Given the description of an element on the screen output the (x, y) to click on. 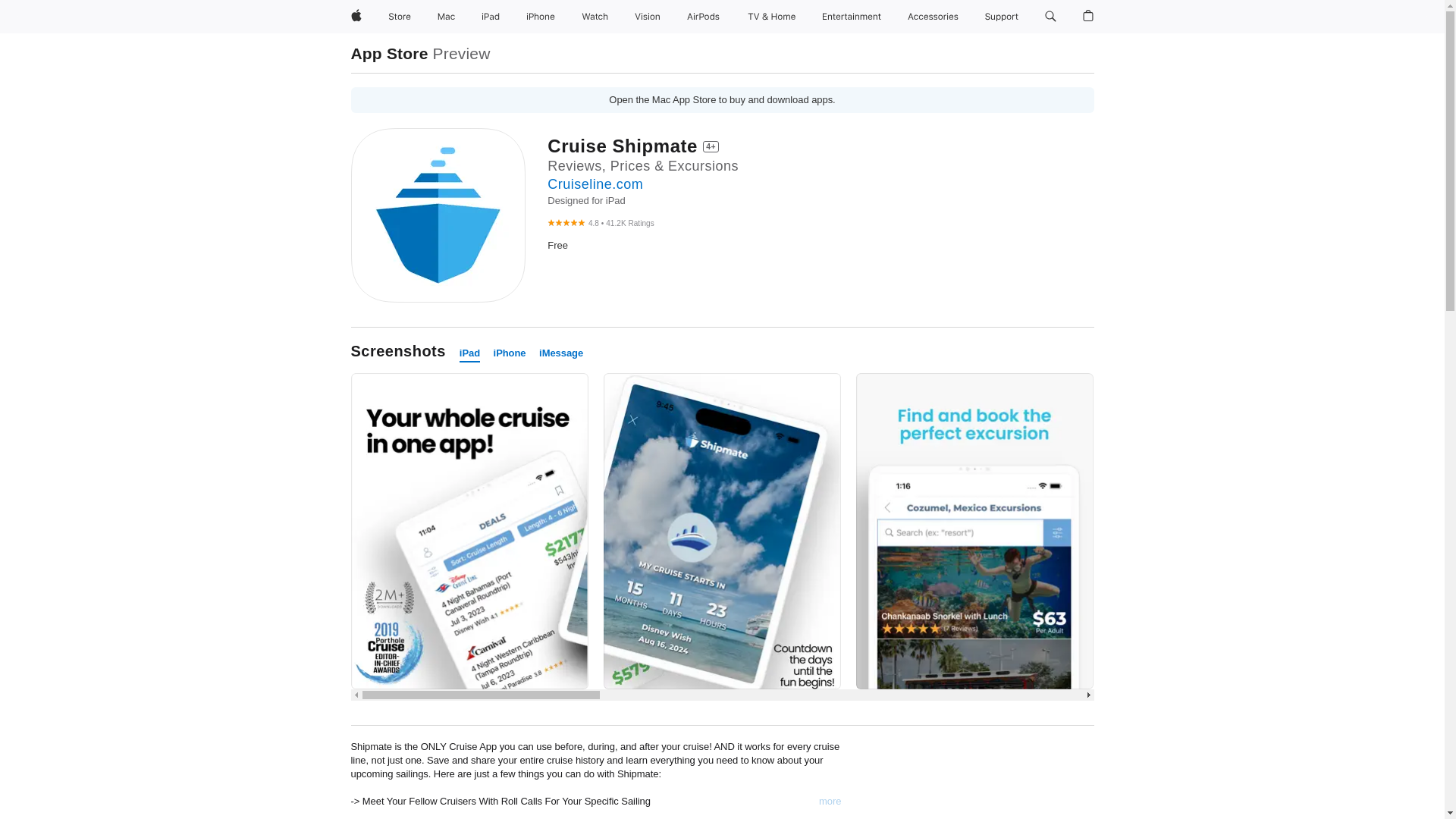
Store (398, 16)
